Given the description of an element on the screen output the (x, y) to click on. 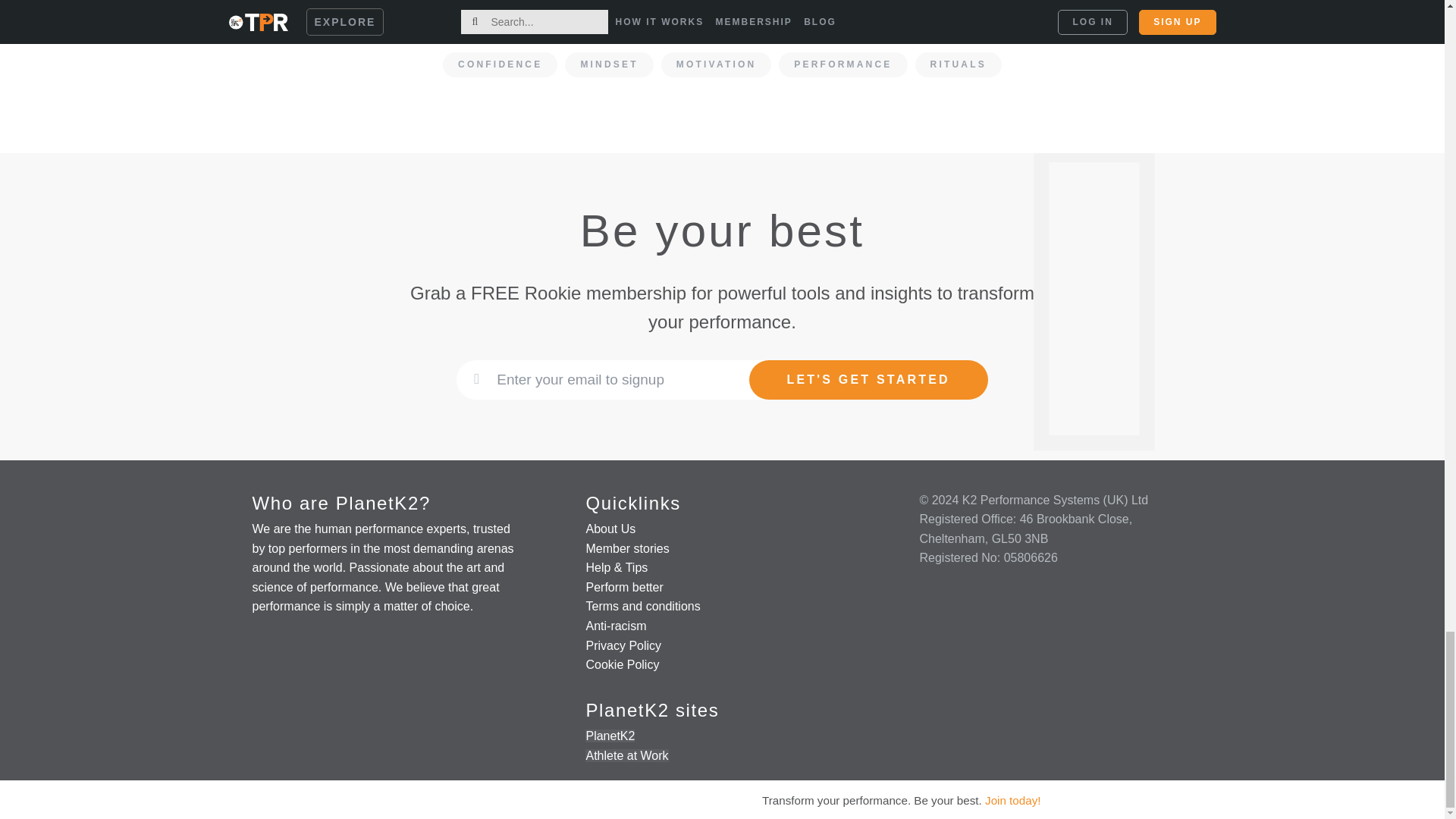
Let's get started (868, 379)
